Given the description of an element on the screen output the (x, y) to click on. 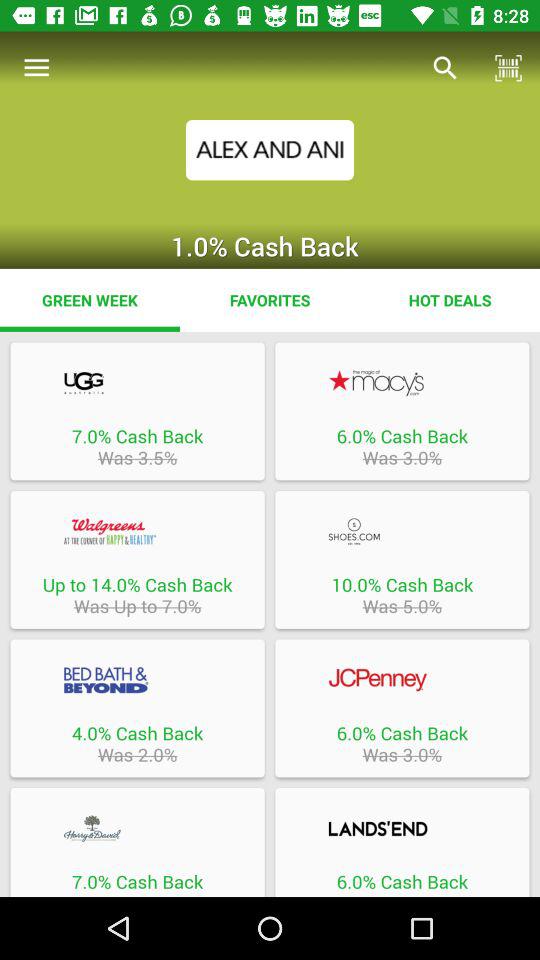
tap item to the right of the favorites (450, 299)
